Given the description of an element on the screen output the (x, y) to click on. 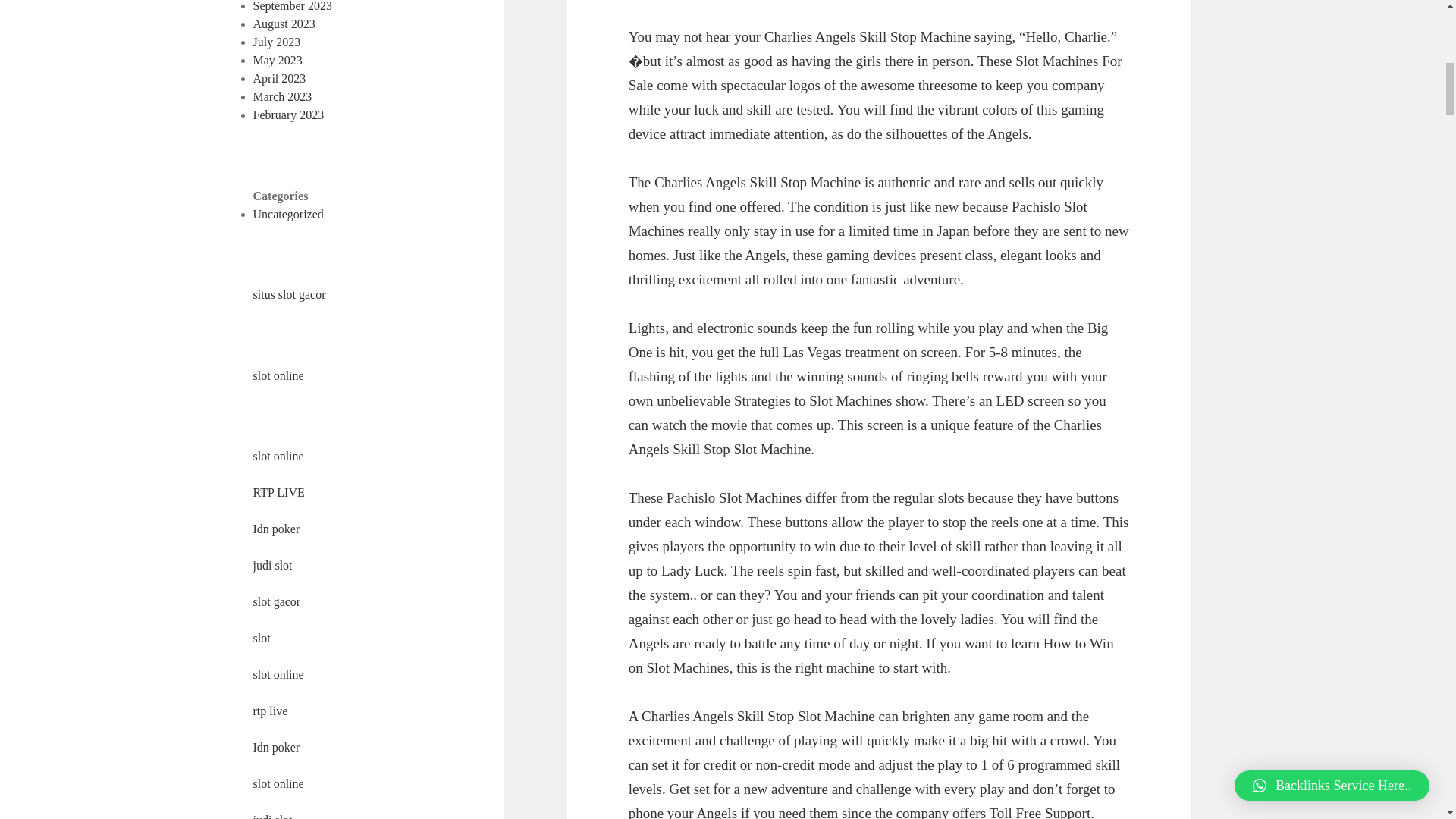
slot gacor (277, 601)
slot online (278, 674)
slot online (278, 455)
Idn poker (276, 747)
February 2023 (288, 114)
March 2023 (283, 96)
September 2023 (292, 6)
slot online (278, 375)
Uncategorized (288, 214)
situs slot gacor (289, 294)
slot (261, 637)
Idn poker (276, 528)
judi slot (272, 816)
rtp live (270, 710)
RTP LIVE (278, 492)
